Given the description of an element on the screen output the (x, y) to click on. 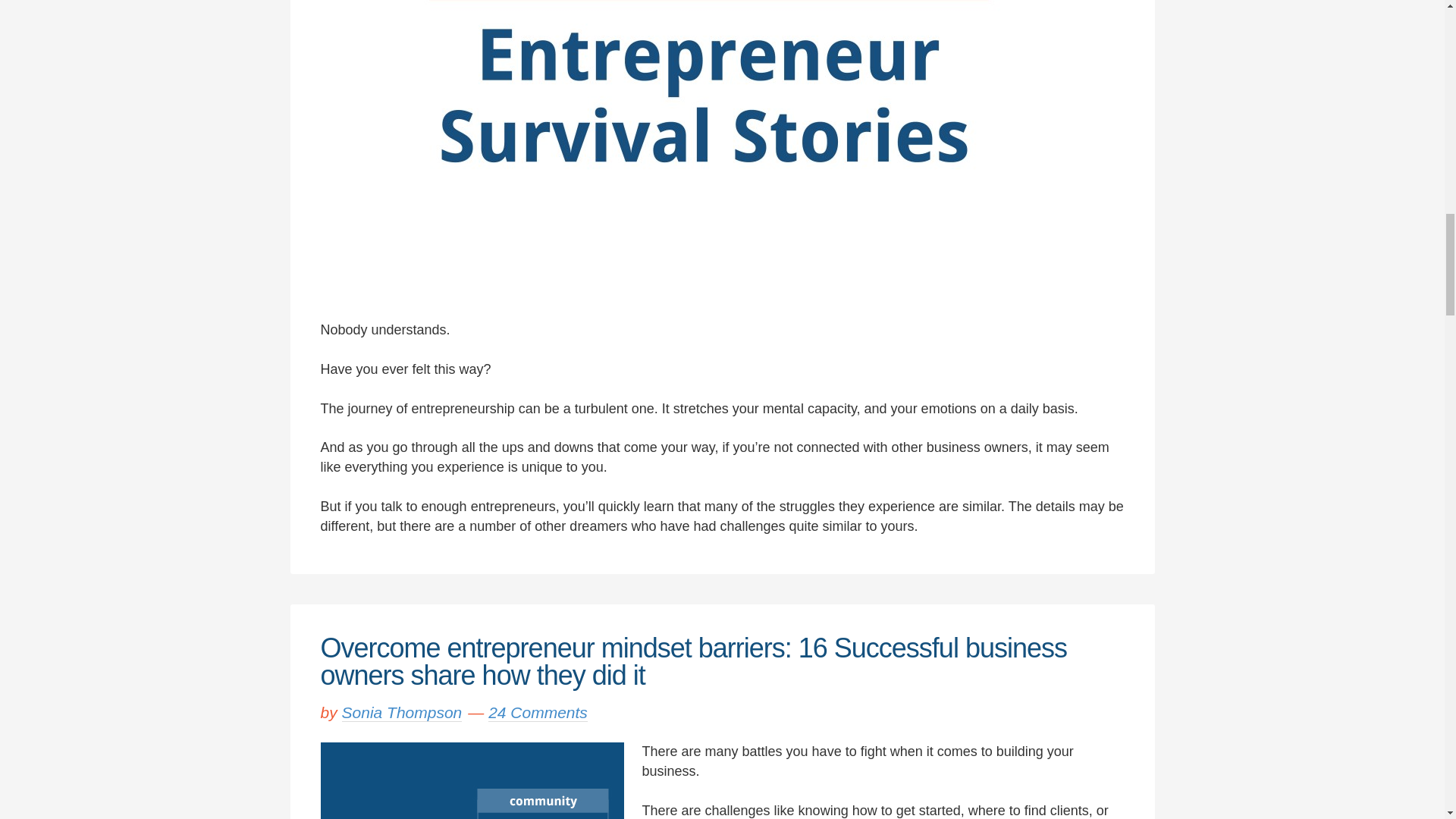
24 Comments (537, 712)
Sonia Thompson (402, 712)
